Given the description of an element on the screen output the (x, y) to click on. 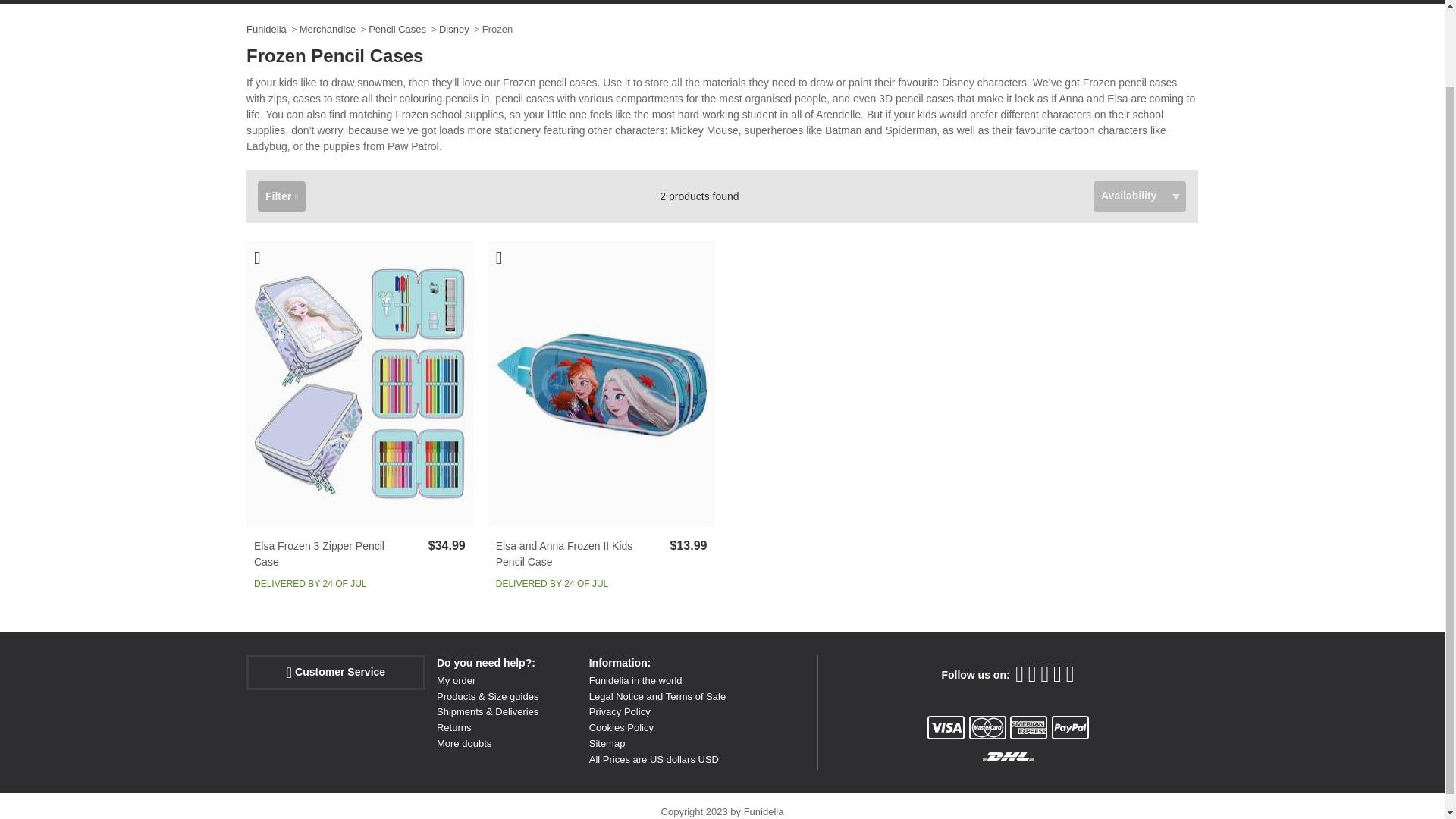
COSTUMES (287, 2)
Star Wars (1121, 2)
TOP (997, 2)
Star Wars (1121, 2)
Outlet (1179, 2)
Harry Potter (1048, 2)
Harry Potter (1048, 2)
